Given the description of an element on the screen output the (x, y) to click on. 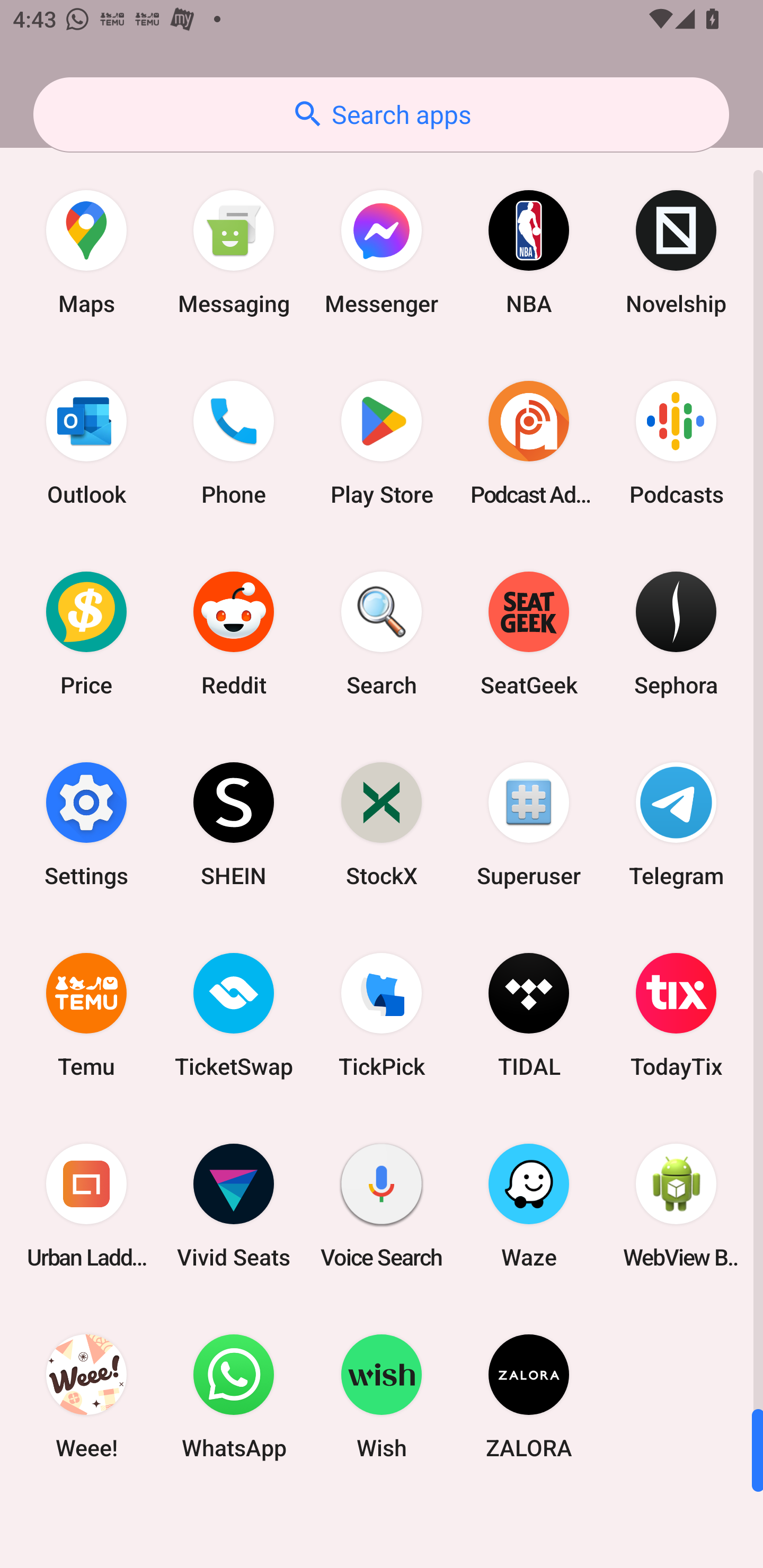
  Search apps (381, 114)
Maps (86, 252)
Messaging (233, 252)
Messenger (381, 252)
NBA (528, 252)
Novelship (676, 252)
Outlook (86, 442)
Phone (233, 442)
Play Store (381, 442)
Podcast Addict (528, 442)
Podcasts (676, 442)
Price (86, 633)
Reddit (233, 633)
Search (381, 633)
SeatGeek (528, 633)
Sephora (676, 633)
Settings (86, 823)
SHEIN (233, 823)
StockX (381, 823)
Superuser (528, 823)
Telegram (676, 823)
Temu (86, 1014)
TicketSwap (233, 1014)
TickPick (381, 1014)
TIDAL (528, 1014)
TodayTix (676, 1014)
Urban Ladder (86, 1205)
Vivid Seats (233, 1205)
Voice Search (381, 1205)
Waze (528, 1205)
WebView Browser Tester (676, 1205)
Weee! (86, 1396)
WhatsApp (233, 1396)
Wish (381, 1396)
ZALORA (528, 1396)
